Given the description of an element on the screen output the (x, y) to click on. 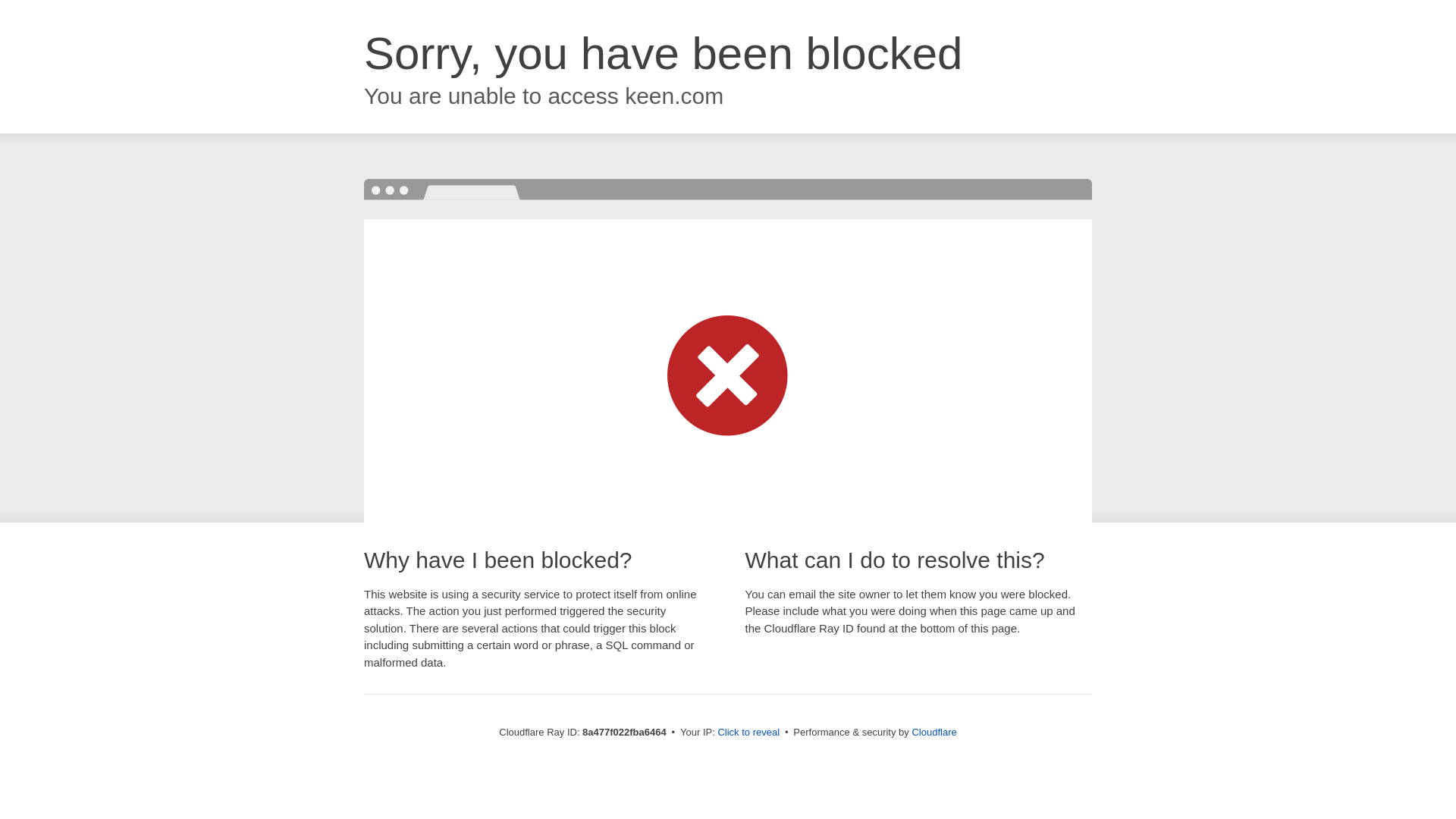
Click to reveal (747, 732)
Cloudflare (933, 731)
